Given the description of an element on the screen output the (x, y) to click on. 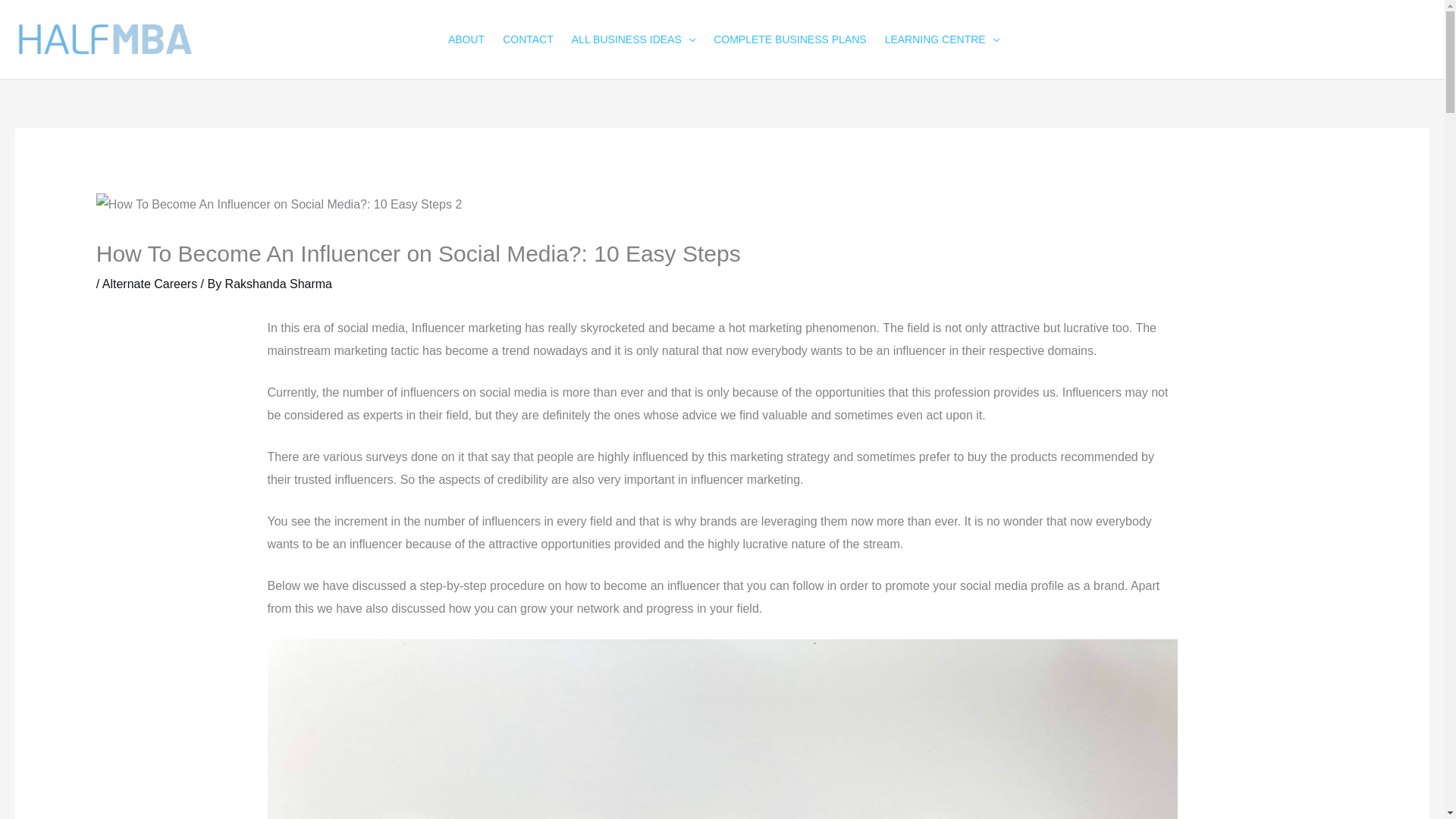
COMPLETE BUSINESS PLANS (789, 39)
Rakshanda Sharma (278, 283)
ALL BUSINESS IDEAS (631, 39)
View all posts by Rakshanda Sharma (278, 283)
LEARNING CENTRE (941, 39)
Alternate Careers (148, 283)
